Given the description of an element on the screen output the (x, y) to click on. 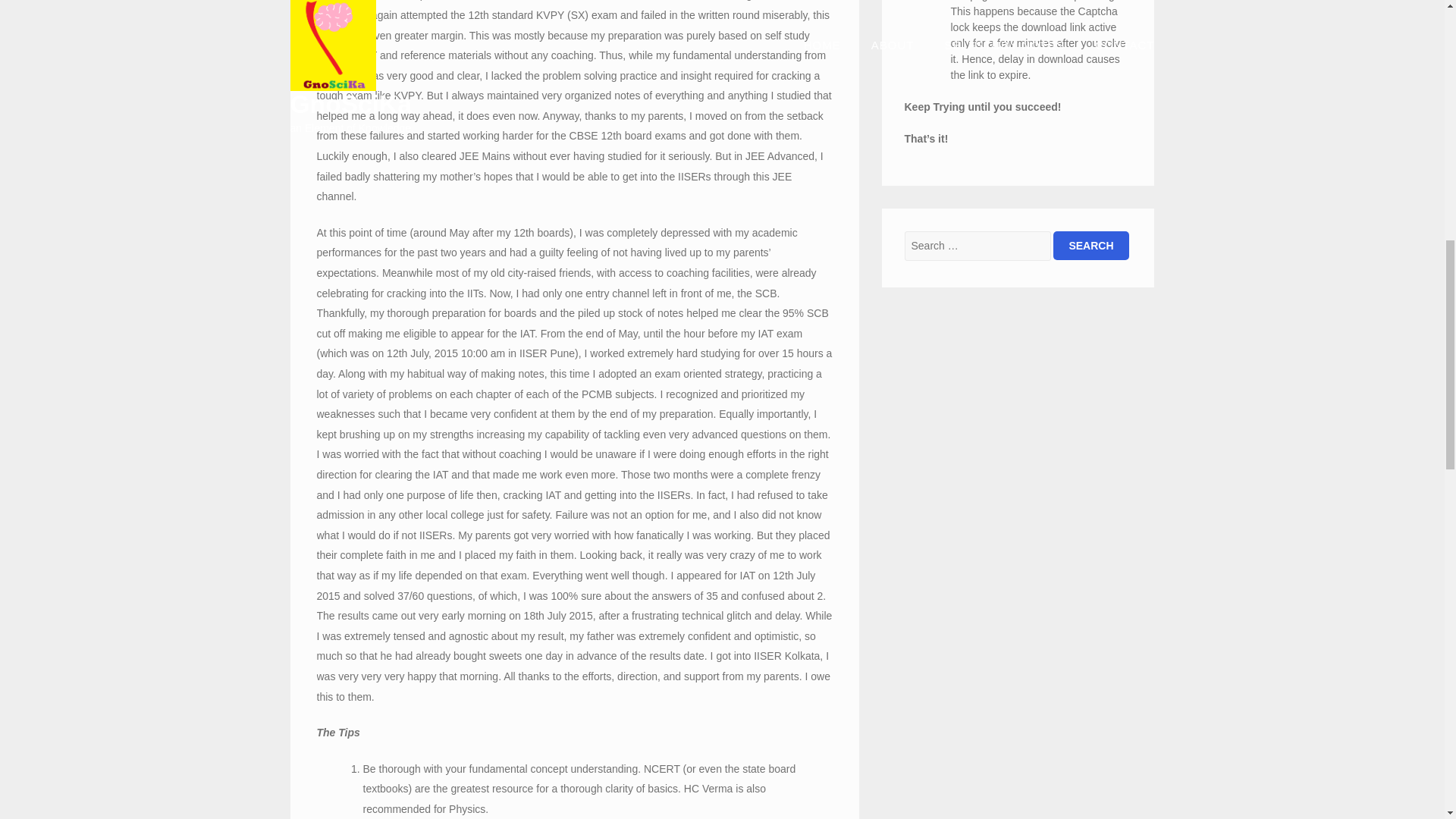
Search (1090, 245)
Search (1090, 245)
Search (1090, 245)
